Given the description of an element on the screen output the (x, y) to click on. 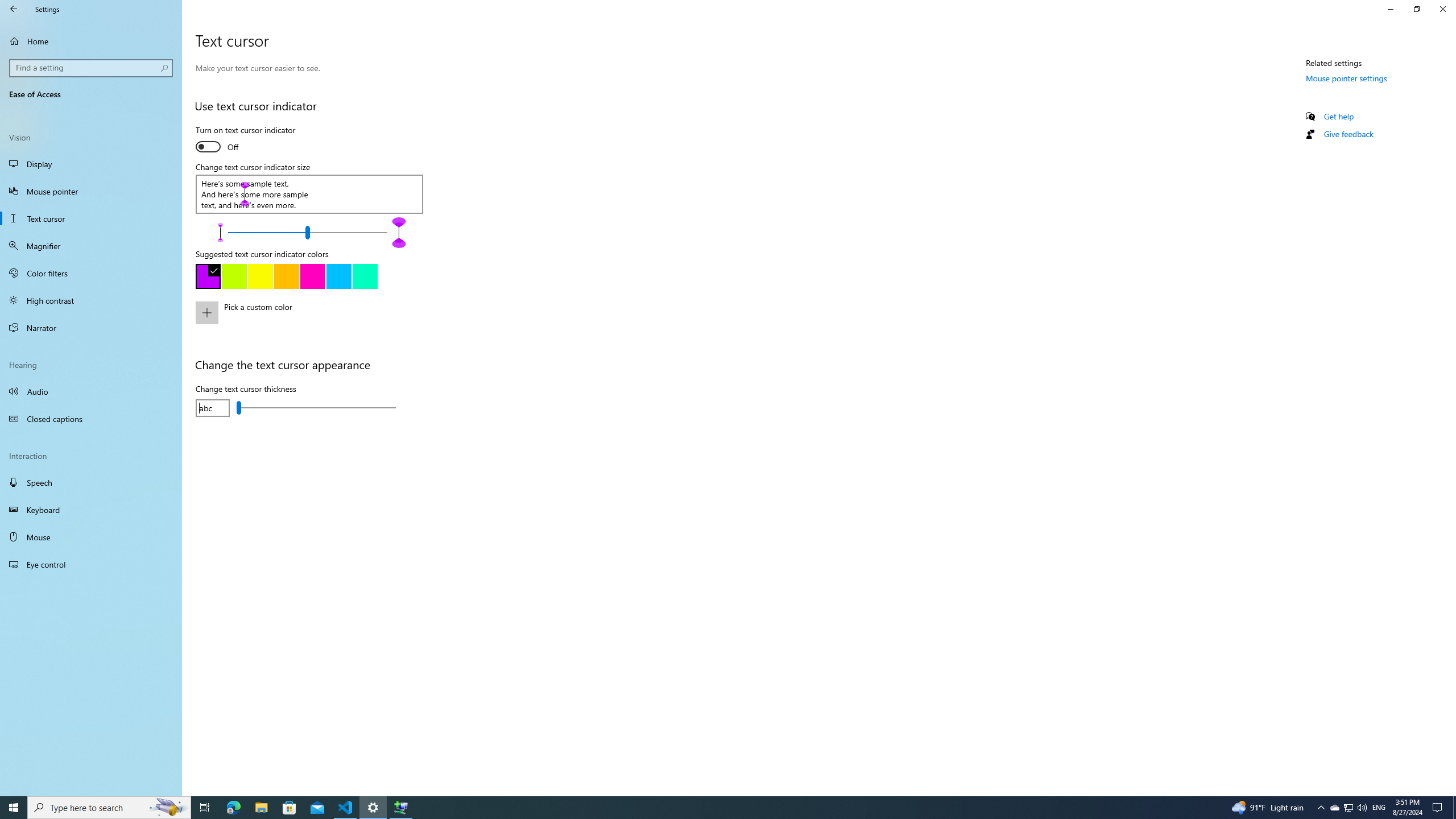
Keyboard (91, 509)
Change text cursor thickness (315, 407)
Change text cursor indicator size (307, 232)
Eye control (91, 564)
Extensible Wizards Host Process - 1 running window (400, 807)
Running applications (706, 807)
Mouse (91, 536)
Audio (91, 390)
Search box, Find a setting (91, 67)
